Given the description of an element on the screen output the (x, y) to click on. 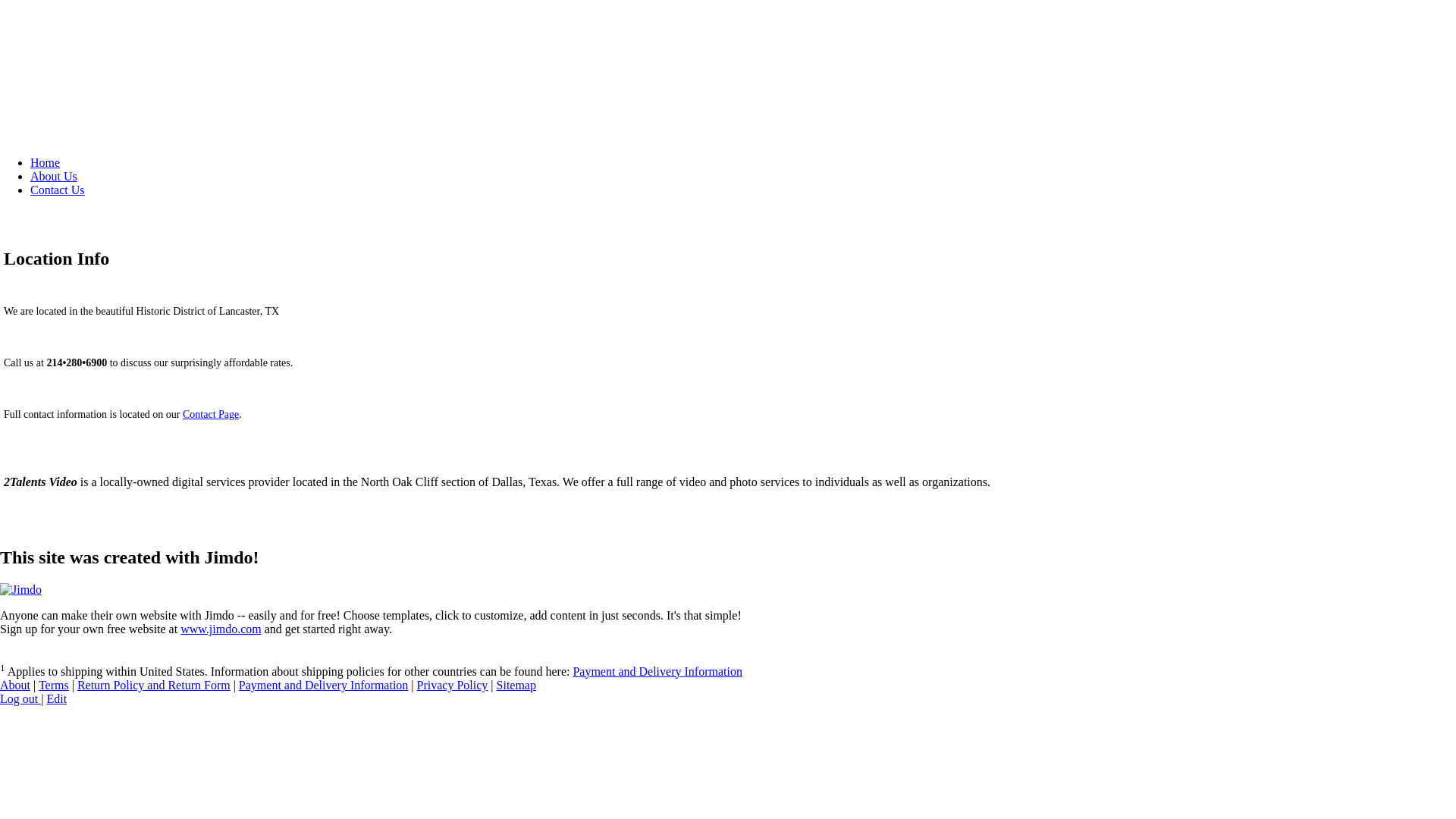
Privacy Policy Element type: text (452, 684)
www.jimdo.com Element type: text (220, 628)
About Element type: text (15, 684)
About Us Element type: text (53, 175)
Jimdo Element type: hover (20, 589)
Home Element type: text (44, 162)
Log out Element type: text (20, 698)
Payment and Delivery Information Element type: text (657, 671)
Terms Element type: text (53, 684)
Payment and Delivery Information Element type: text (323, 684)
Return Policy and Return Form Element type: text (153, 684)
Contact Us Element type: text (57, 189)
Sitemap Element type: text (516, 684)
Contact Page Element type: text (210, 414)
Edit Element type: text (56, 698)
